Given the description of an element on the screen output the (x, y) to click on. 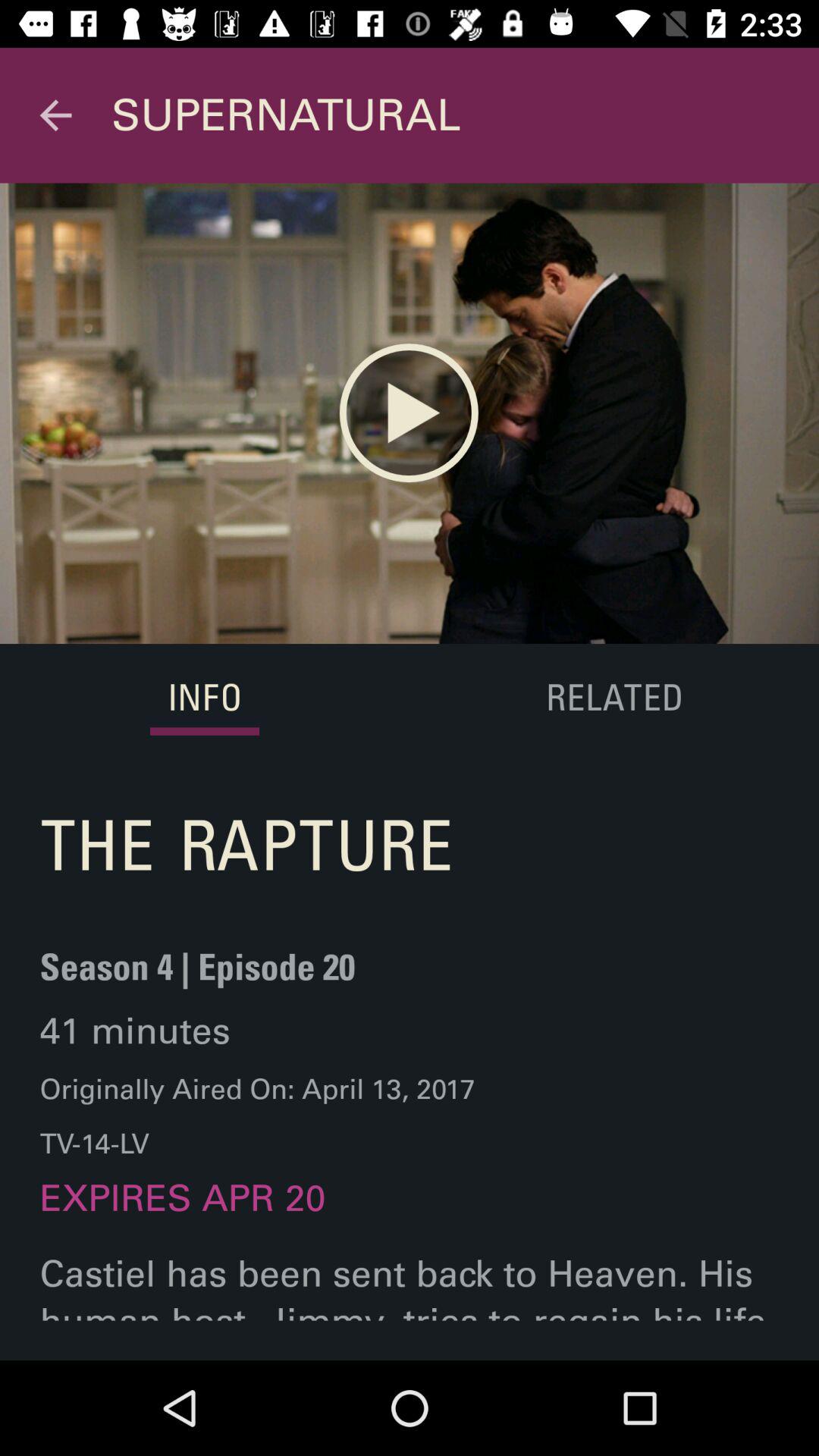
select the expires apr 20 item (182, 1213)
